Given the description of an element on the screen output the (x, y) to click on. 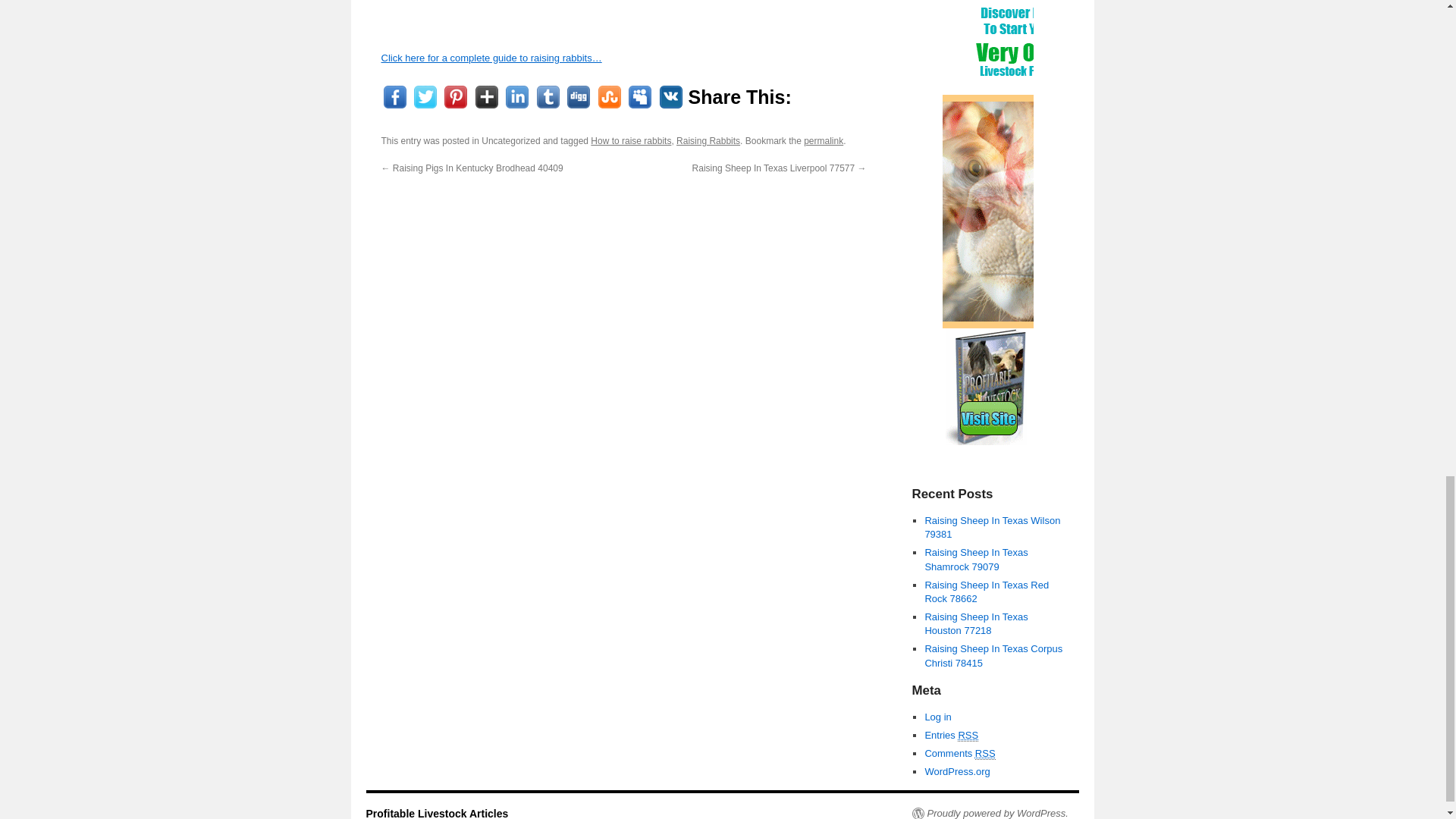
Really Simple Syndication (985, 753)
Really Simple Syndication (968, 735)
How to raise rabbits (631, 140)
permalink (823, 140)
Raising Rabbits (708, 140)
